Given the description of an element on the screen output the (x, y) to click on. 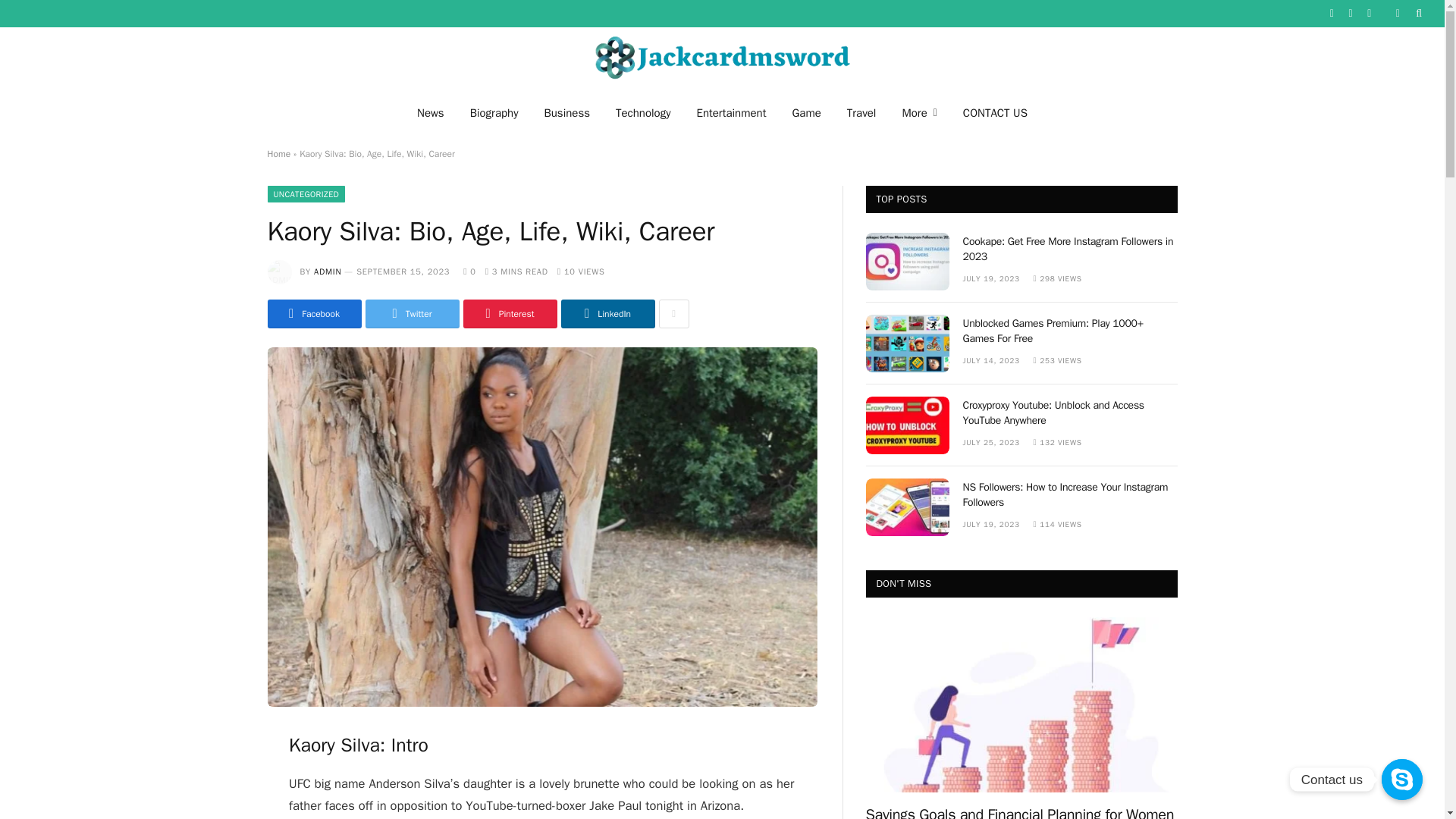
Posts by admin (327, 271)
Facebook (313, 313)
Technology (643, 112)
Entertainment (731, 112)
Switch to Dark Design - easier on eyes. (1397, 13)
CONTACT US (995, 112)
Biography (494, 112)
UNCATEGORIZED (305, 193)
Business (566, 112)
Home (277, 153)
